Given the description of an element on the screen output the (x, y) to click on. 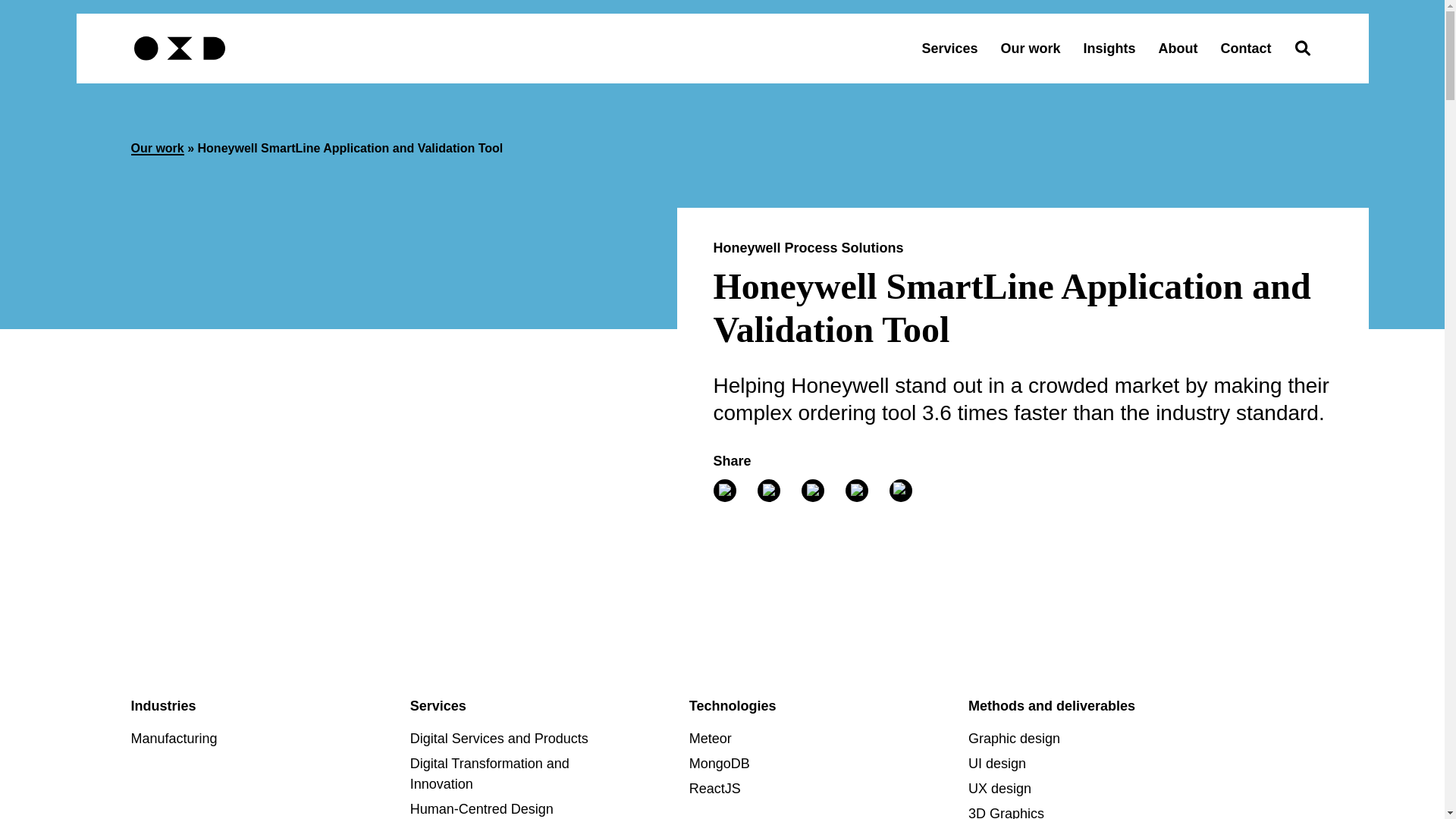
Contact (1246, 48)
Insights (1109, 48)
Our work (1029, 48)
Insights (1109, 48)
About (1178, 48)
Our work (1029, 48)
About (1178, 48)
Services (948, 48)
Contact (1246, 48)
Services (948, 48)
